Given the description of an element on the screen output the (x, y) to click on. 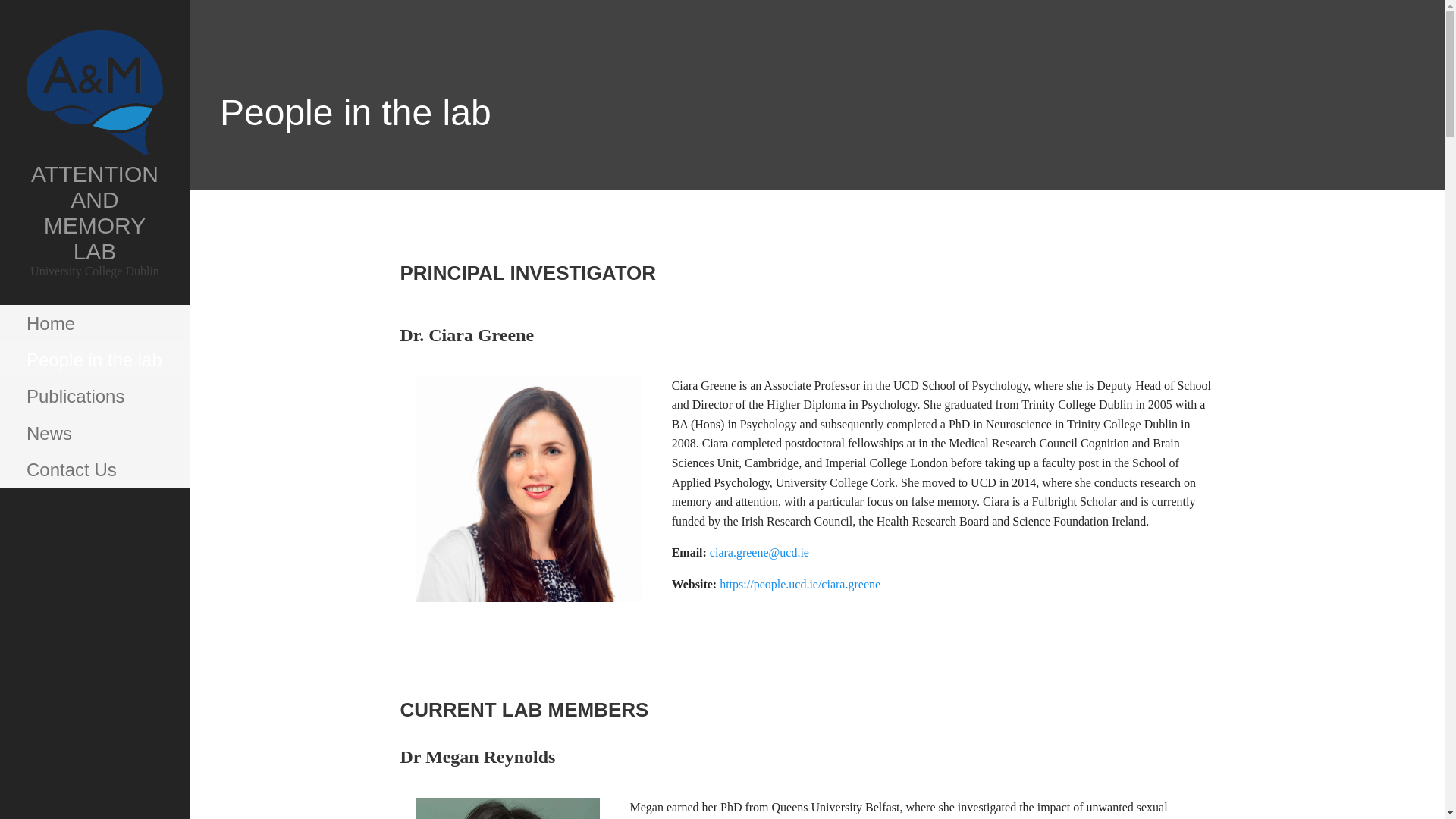
ATTENTION AND MEMORY LAB (94, 212)
Home (94, 323)
Publications (94, 396)
Dr Ciara Greene, UCD School of Psychology (528, 488)
News (94, 433)
Contact Us (94, 470)
People in the lab (94, 360)
Megan (506, 808)
